Given the description of an element on the screen output the (x, y) to click on. 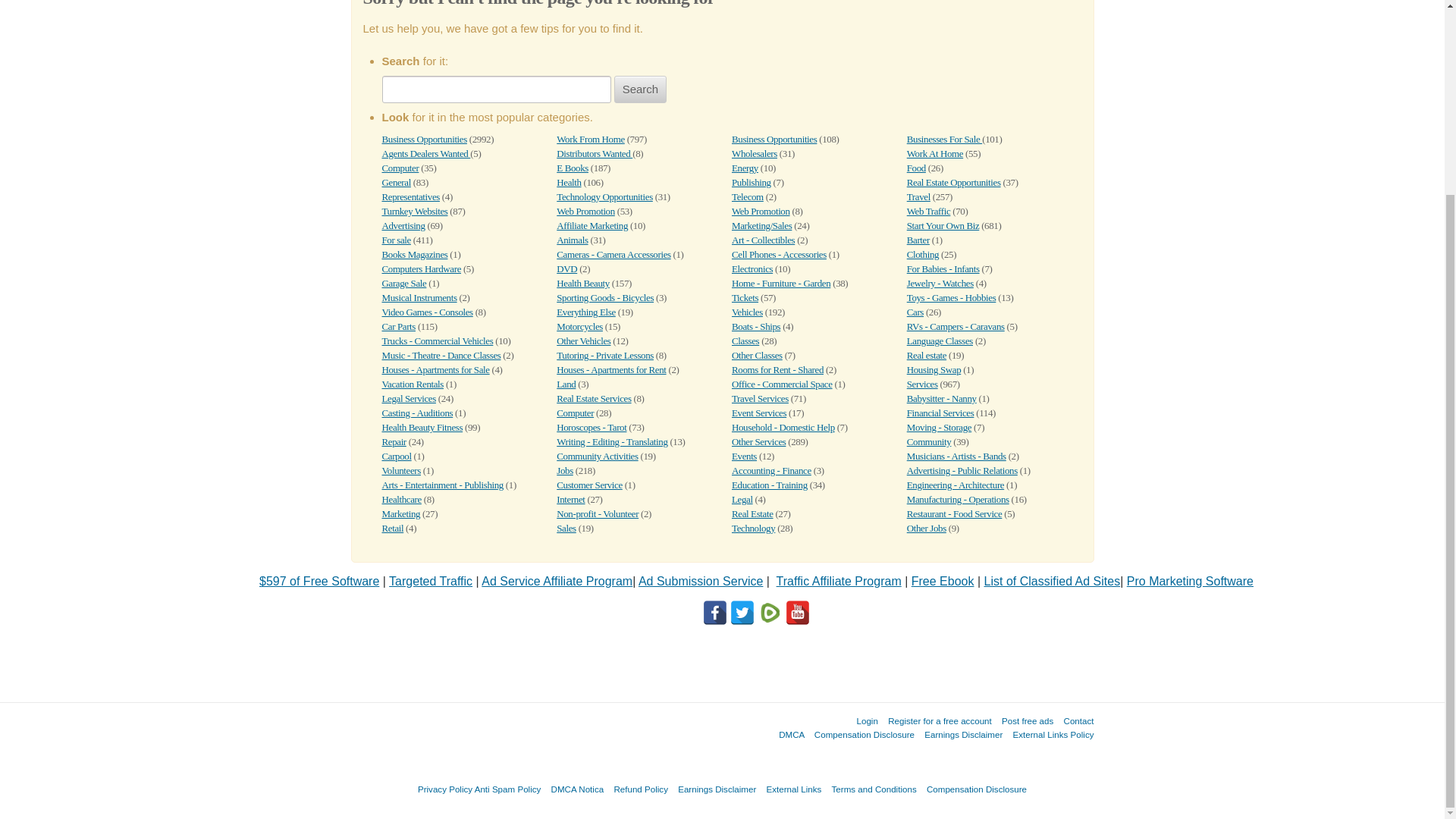
Web Promotion (585, 211)
Cameras - Camera Accessories (612, 254)
Web Traffic (928, 211)
Animals (572, 239)
Health (568, 182)
Publishing (751, 182)
Business Opportunities (424, 138)
Computer (400, 167)
Food (916, 167)
Businesses For Sale (944, 138)
